Given the description of an element on the screen output the (x, y) to click on. 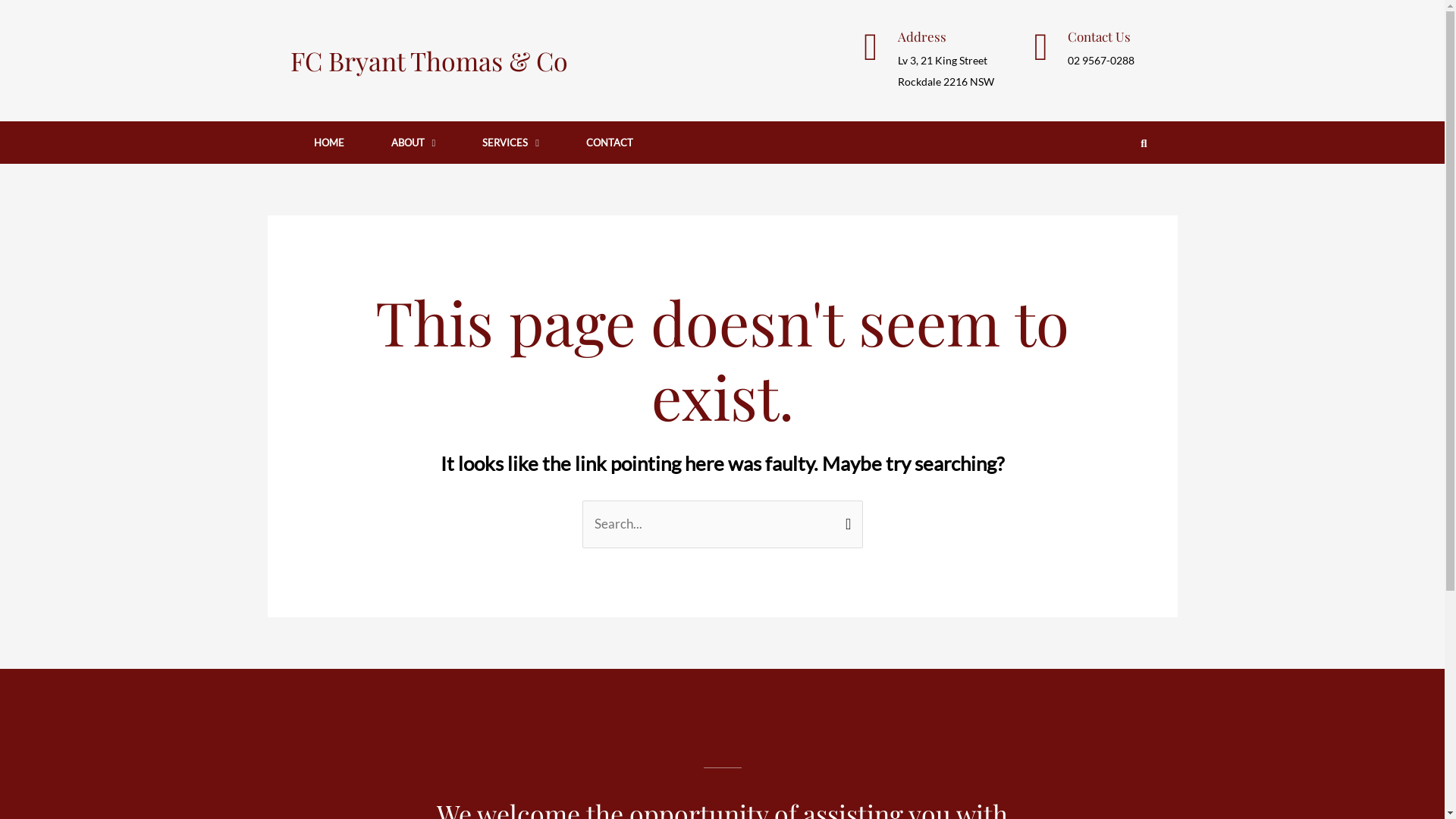
Search Element type: hover (1138, 142)
HOME Element type: text (328, 142)
CONTACT Element type: text (609, 142)
Search Element type: text (845, 516)
FC Bryant Thomas & Co Element type: text (428, 59)
SERVICES Element type: text (510, 142)
ABOUT Element type: text (412, 142)
